Given the description of an element on the screen output the (x, y) to click on. 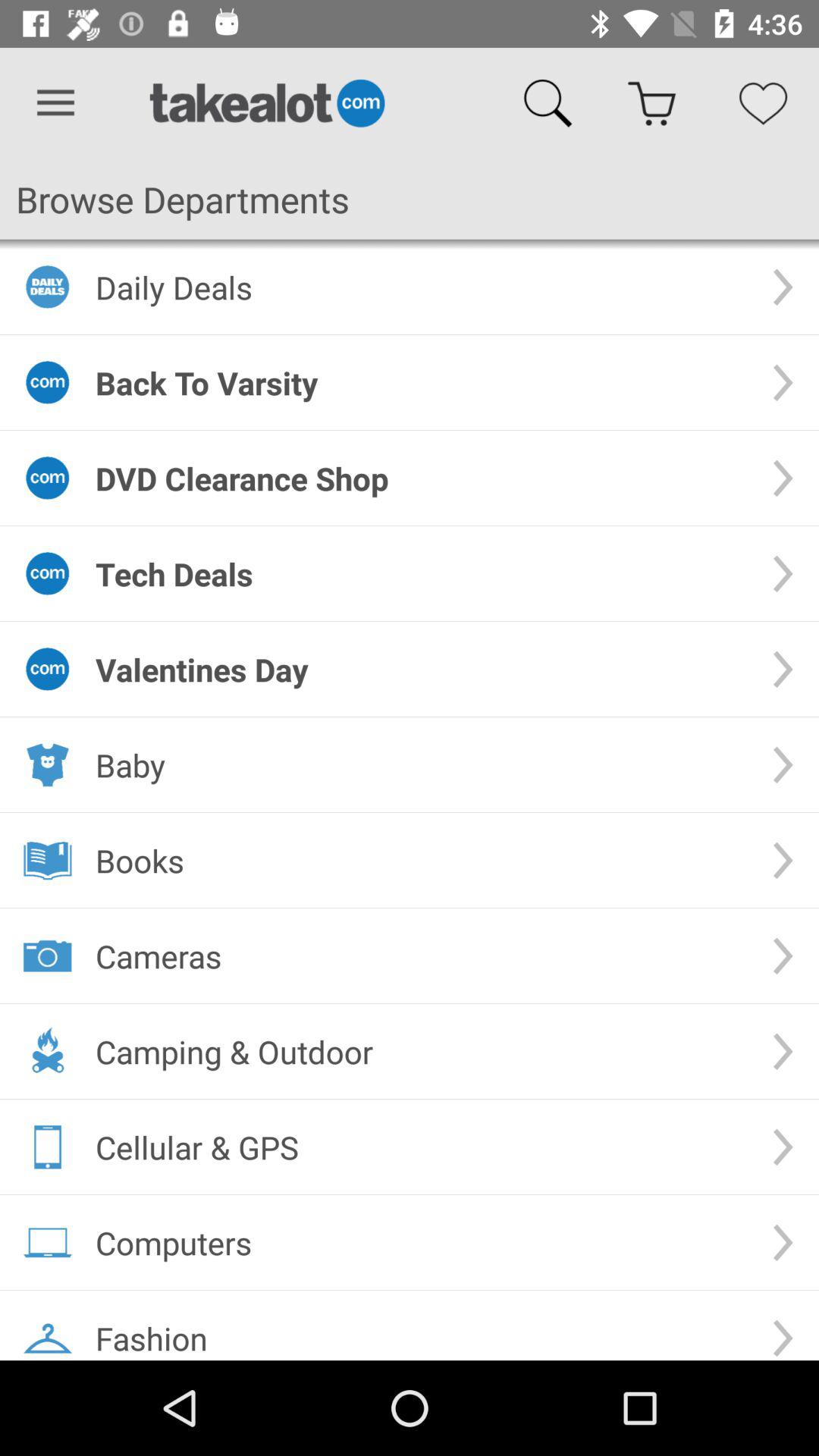
press the icon above the computers (421, 1146)
